Given the description of an element on the screen output the (x, y) to click on. 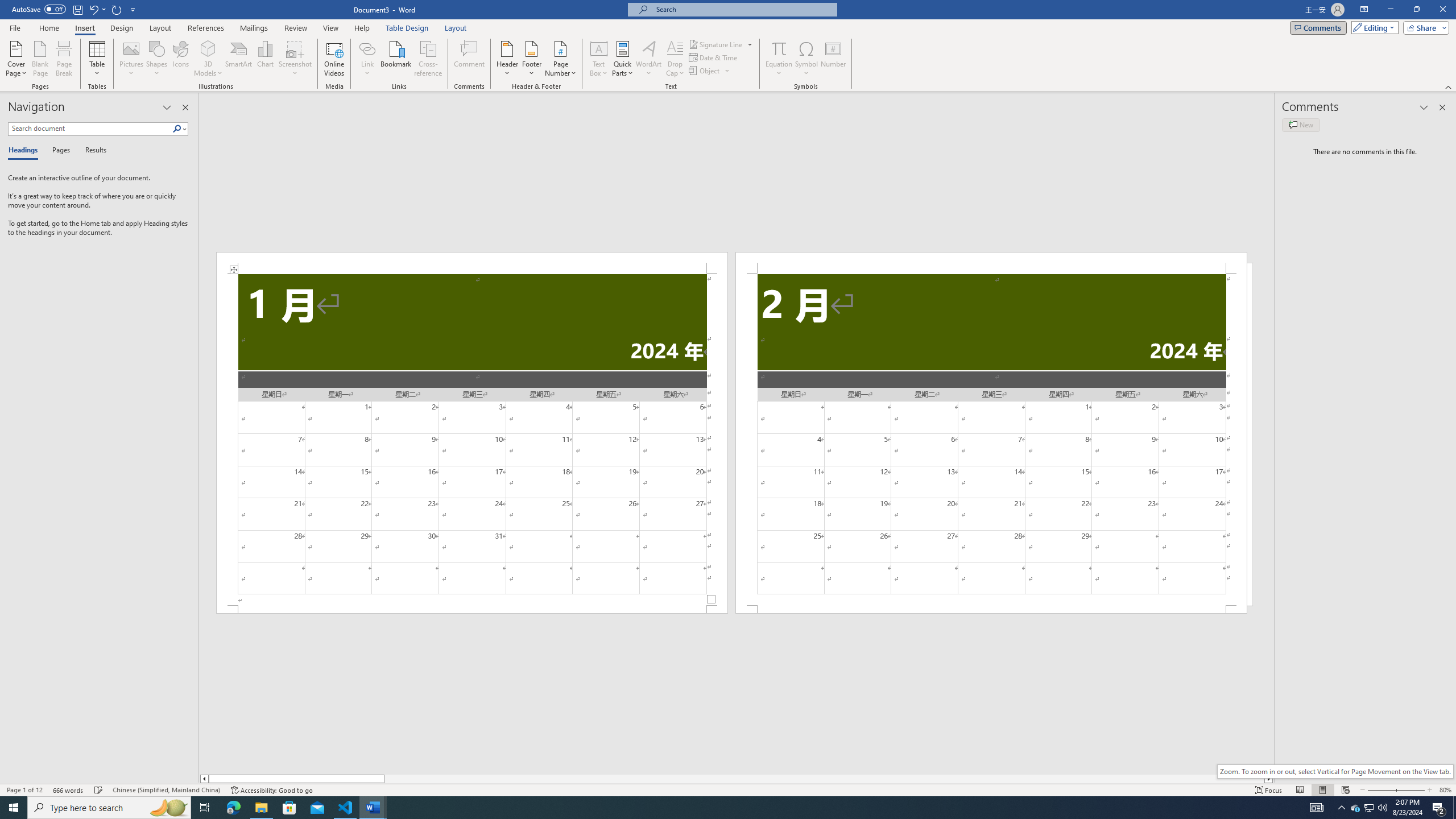
Pictures (131, 58)
Page Number (560, 58)
3D Models (208, 58)
SmartArt... (238, 58)
Cover Page (16, 58)
WordArt (648, 58)
